Given the description of an element on the screen output the (x, y) to click on. 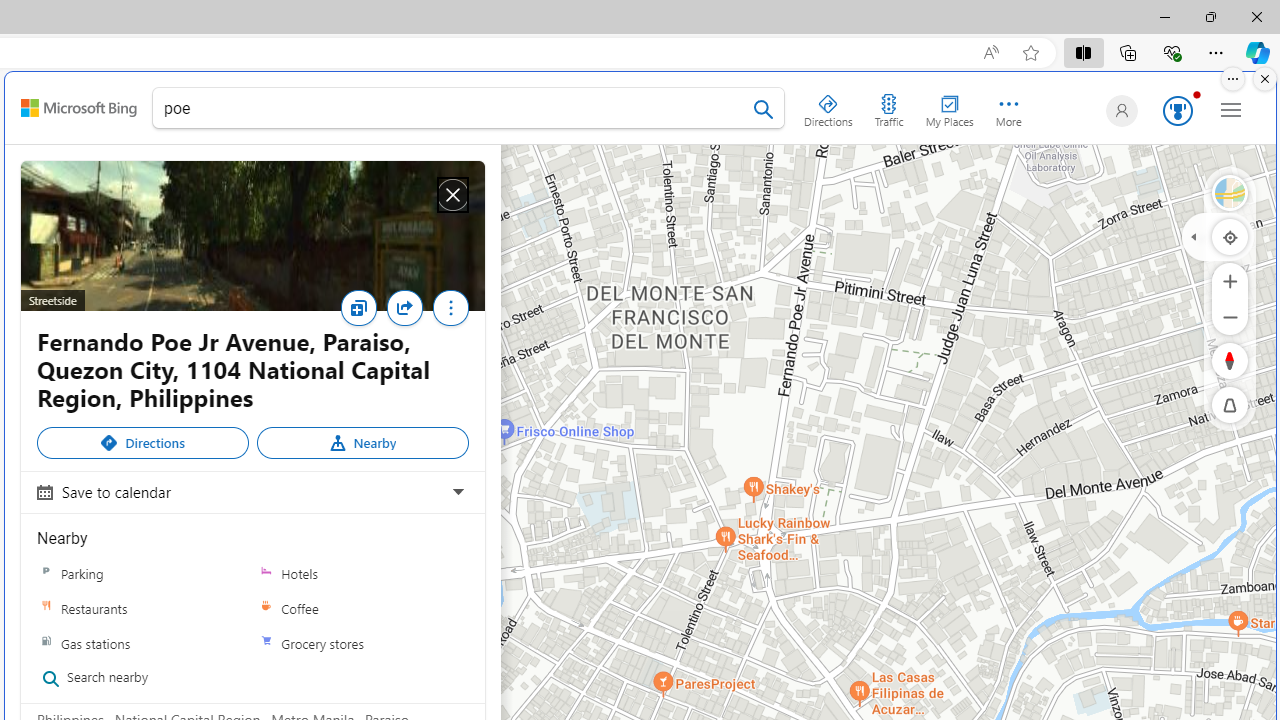
Copilot (Ctrl+Shift+.) (1258, 52)
Directions (828, 106)
Share (409, 314)
More (450, 308)
Read aloud this page (Ctrl+Shift+U) (991, 53)
Zoom Out (1230, 316)
Bird's eye (1230, 192)
More (450, 313)
Collections (1128, 52)
Parking (143, 573)
Gas stations (46, 643)
Hotels (266, 573)
Back to Bing search (78, 107)
Search Bing Maps (763, 109)
Streetside (1230, 192)
